Given the description of an element on the screen output the (x, y) to click on. 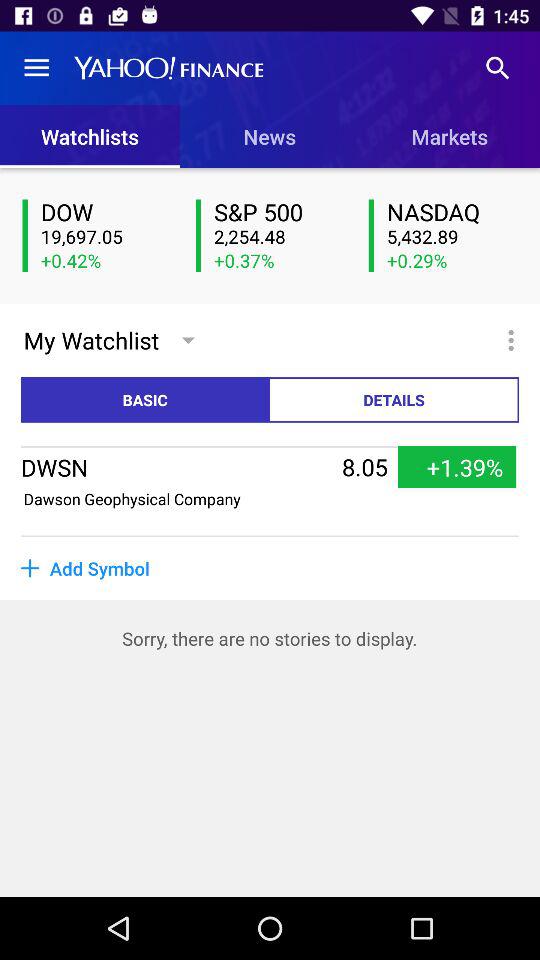
swipe until basic item (145, 399)
